Given the description of an element on the screen output the (x, y) to click on. 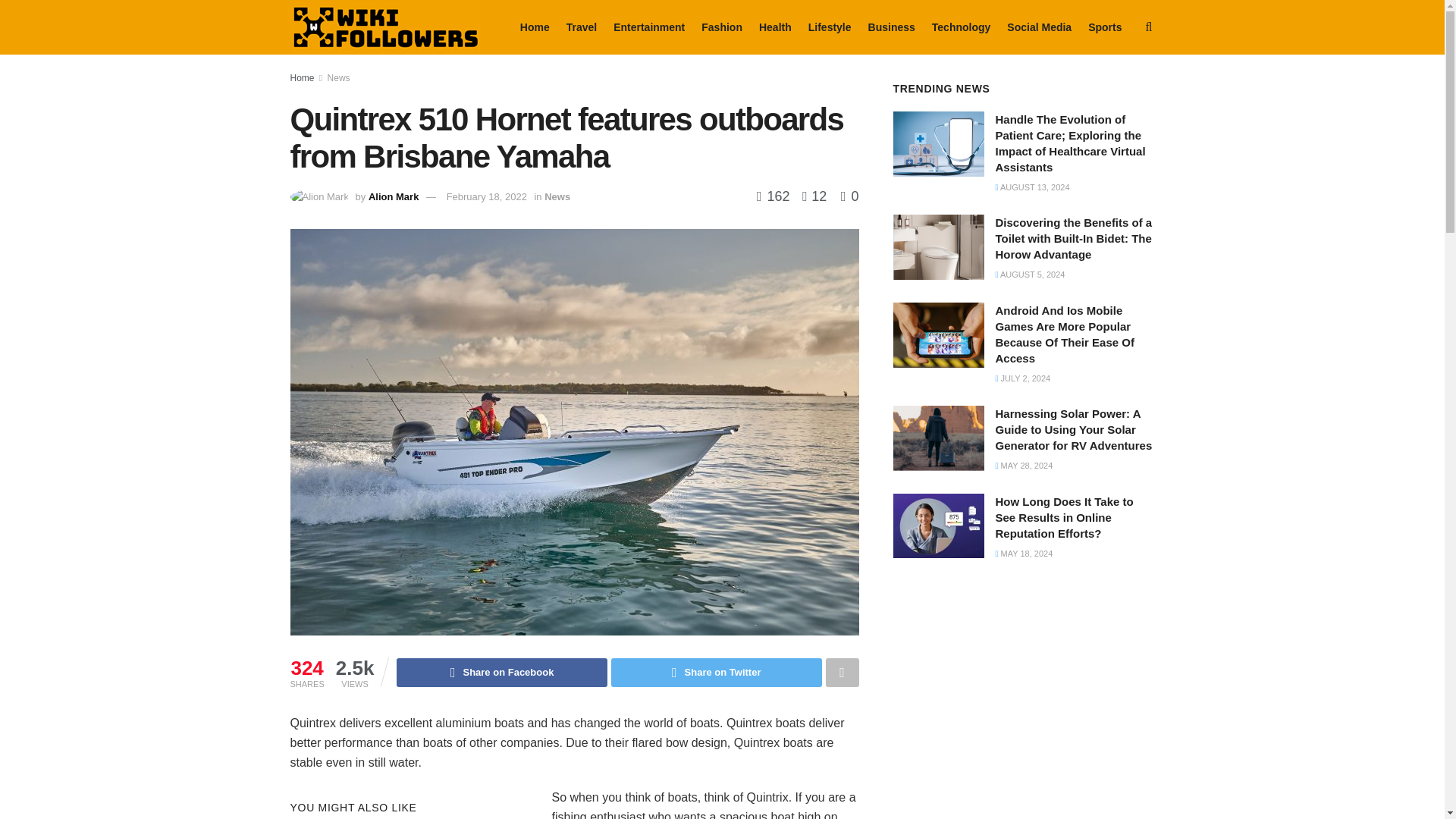
Home (534, 26)
Lifestyle (829, 26)
Alion Mark (393, 196)
Fashion (721, 26)
Entertainment (648, 26)
Business (891, 26)
February 18, 2022 (486, 196)
Social Media (1039, 26)
162 (775, 196)
Share on Facebook (501, 672)
